Given the description of an element on the screen output the (x, y) to click on. 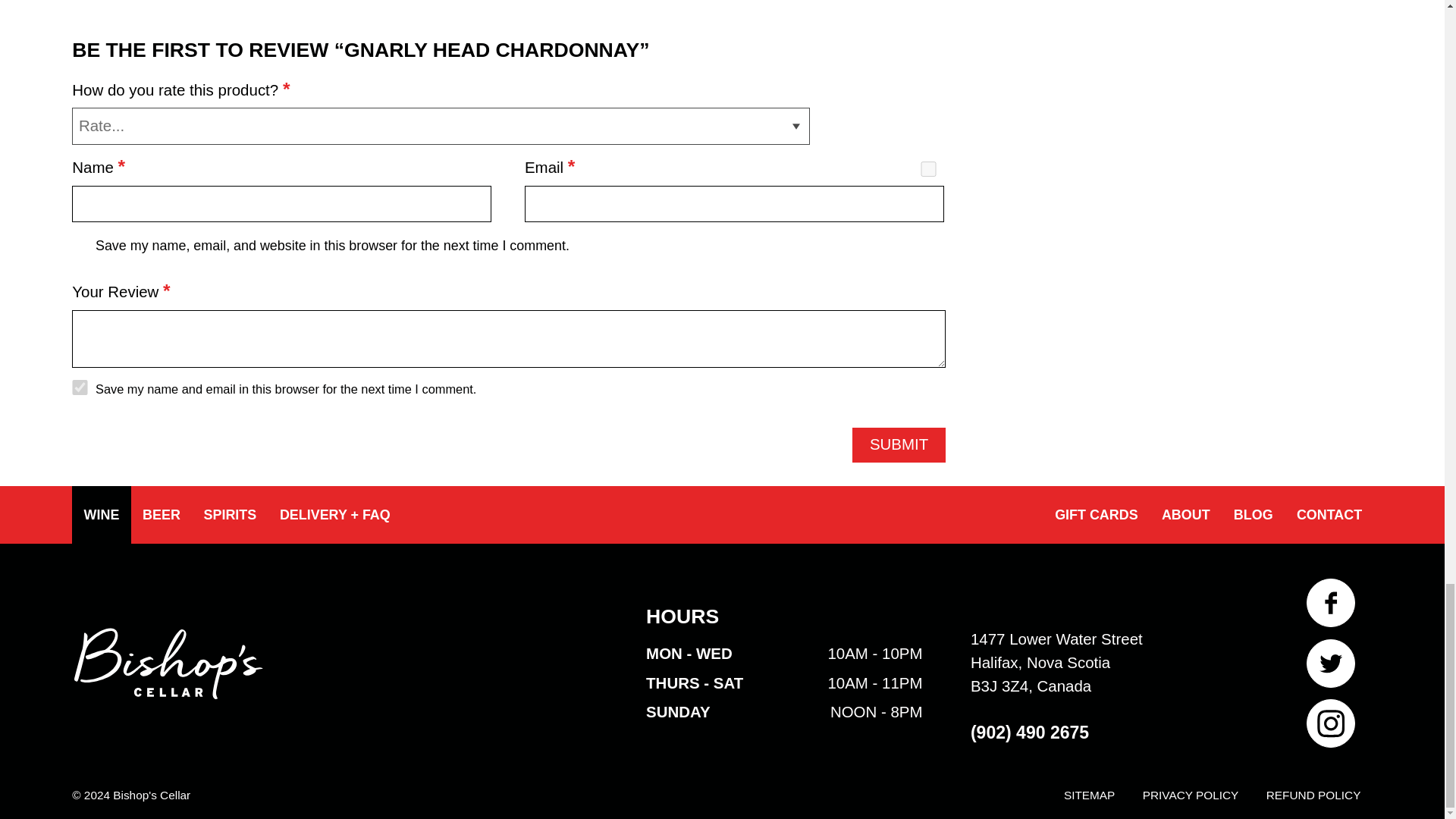
Submit (897, 444)
yes (928, 168)
yes (79, 387)
Bishop's Cellar (168, 673)
